Given the description of an element on the screen output the (x, y) to click on. 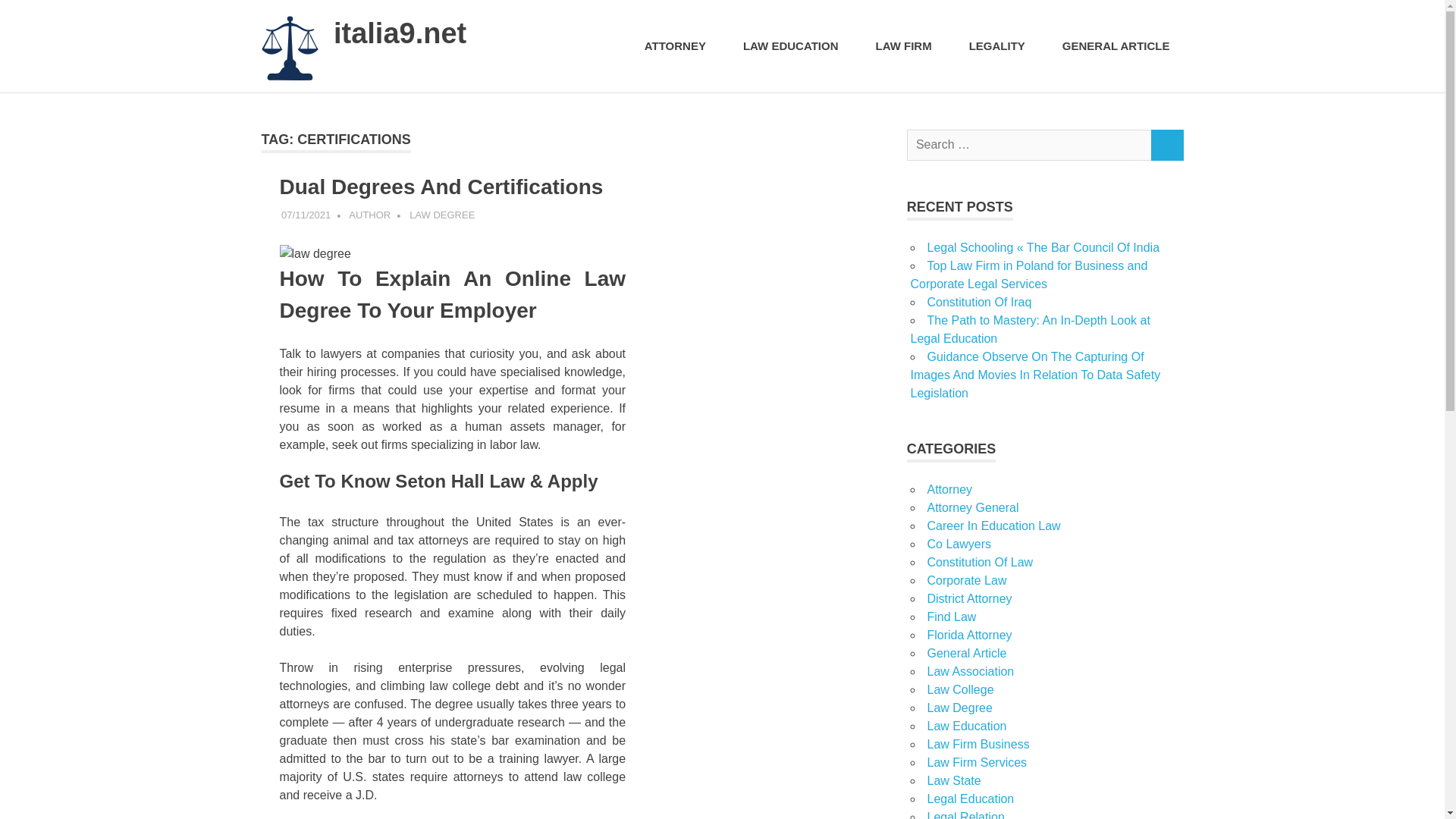
LEGALITY (1001, 46)
LAW EDUCATION (795, 46)
italia9.net (399, 33)
Search for: (1029, 144)
View all posts by Author (369, 214)
AUTHOR (369, 214)
LAW DEGREE (441, 214)
SEARCH (1166, 144)
LAW FIRM (908, 46)
ATTORNEY (679, 46)
